Given the description of an element on the screen output the (x, y) to click on. 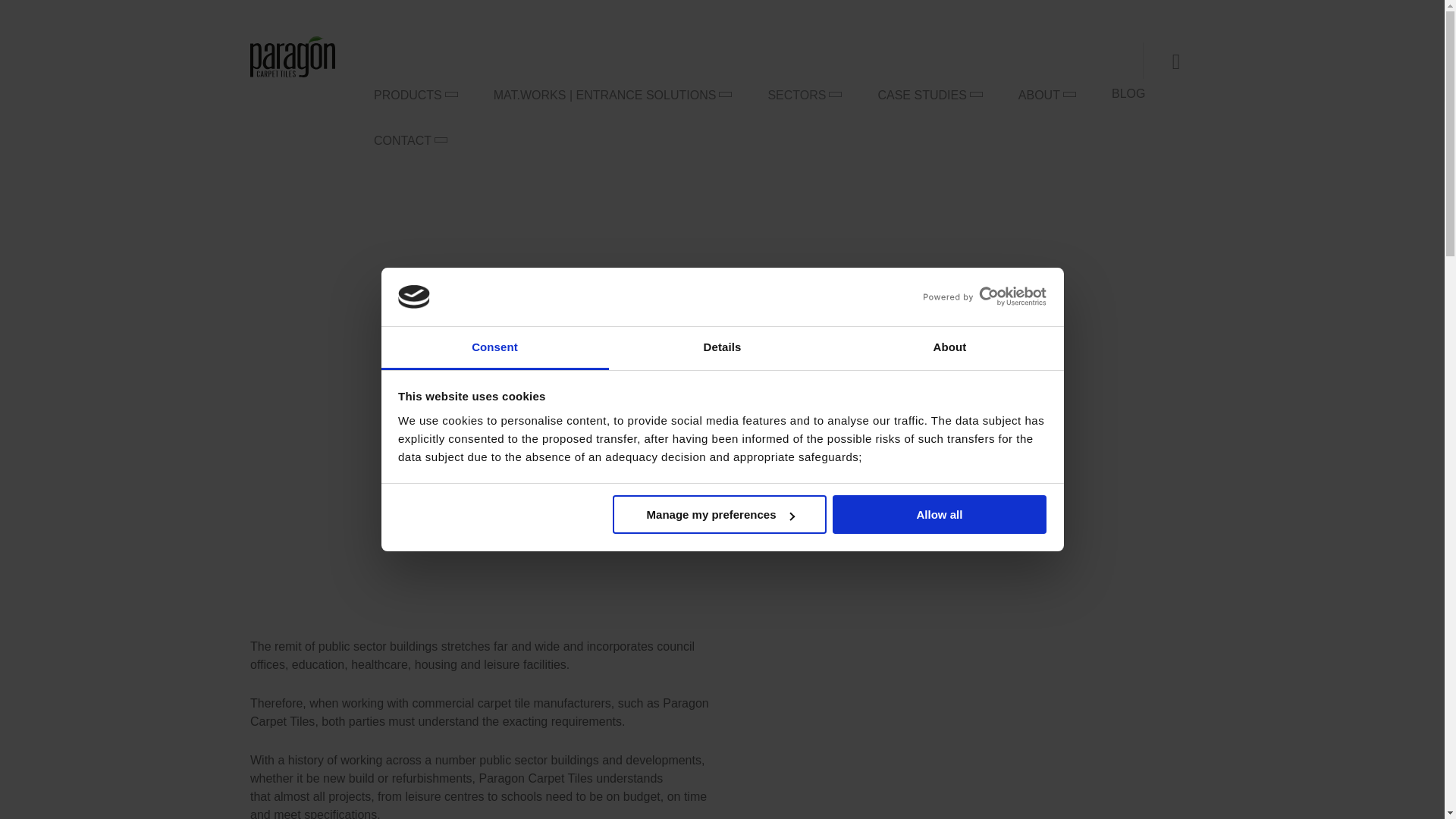
About (948, 348)
Details (721, 348)
Consent (494, 348)
